Given the description of an element on the screen output the (x, y) to click on. 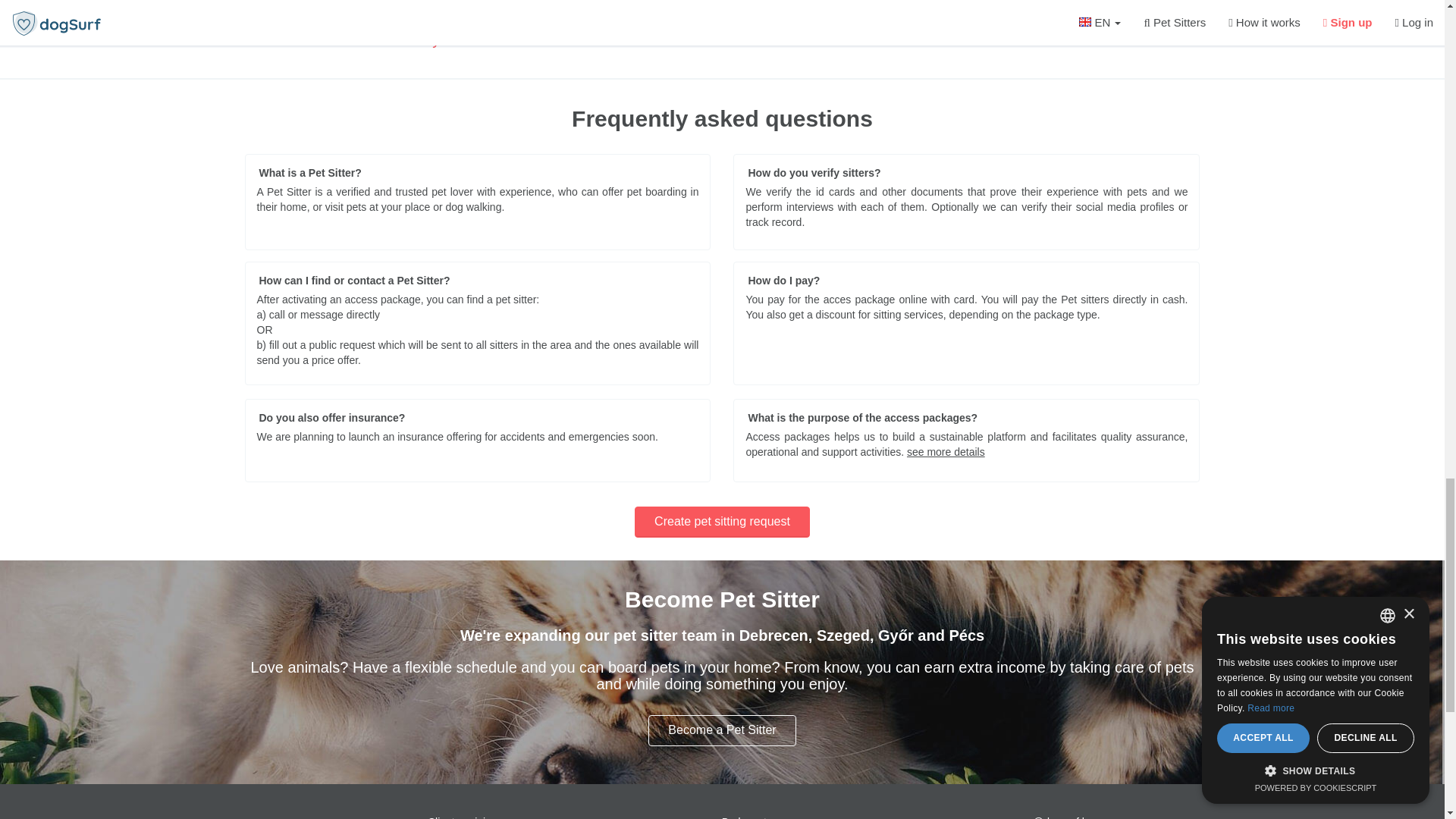
see more details (946, 451)
Become a Pet Sitter (720, 730)
Create pet sitting request (721, 521)
Clients opinion (462, 816)
